Given the description of an element on the screen output the (x, y) to click on. 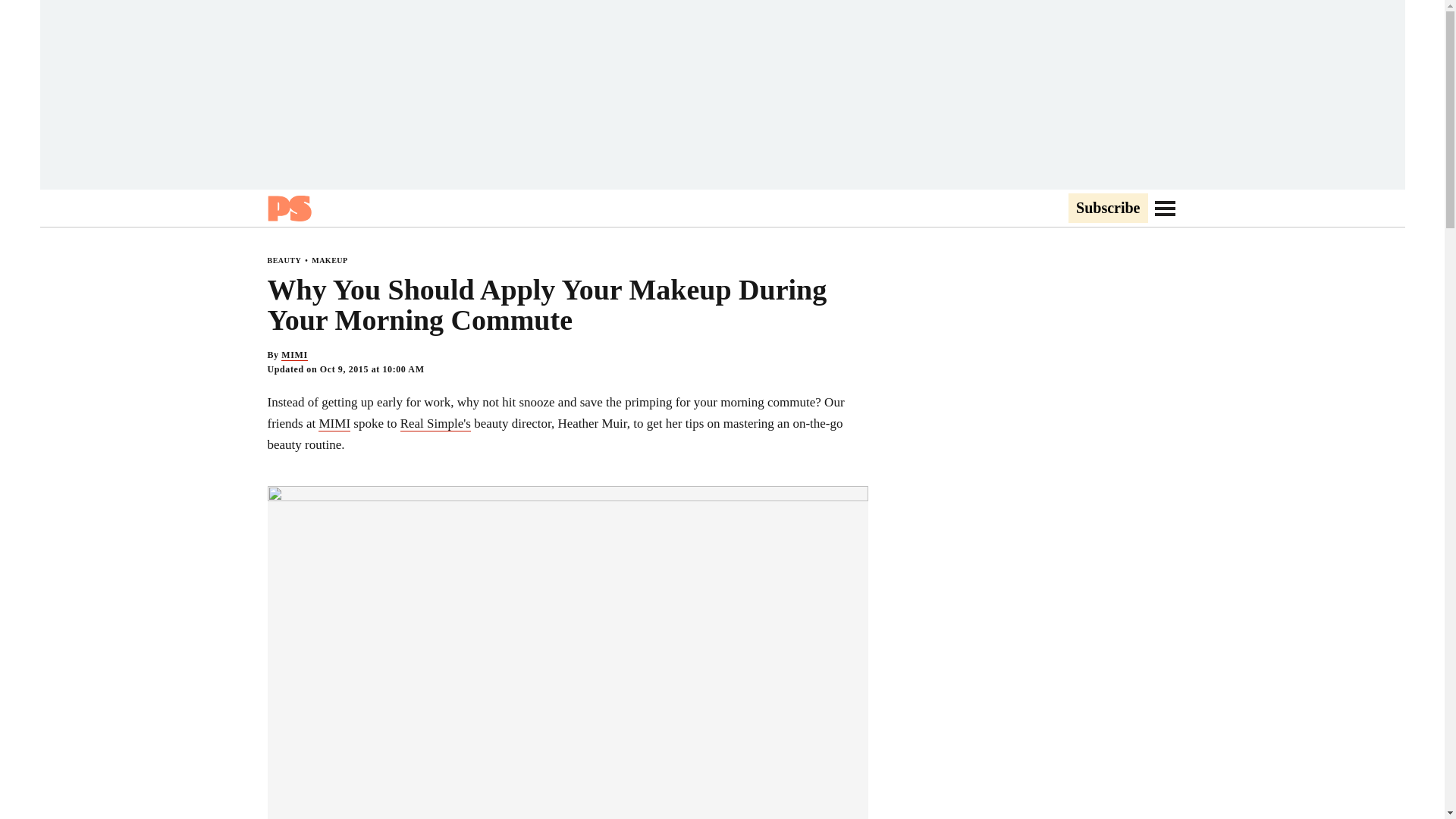
Go to Navigation (1164, 207)
MIMI (294, 355)
MIMI (334, 423)
Subscribe (1107, 208)
Go to Navigation (1164, 207)
MAKEUP (329, 260)
BEAUTY (283, 260)
Real Simple's (435, 423)
Popsugar (288, 208)
